Given the description of an element on the screen output the (x, y) to click on. 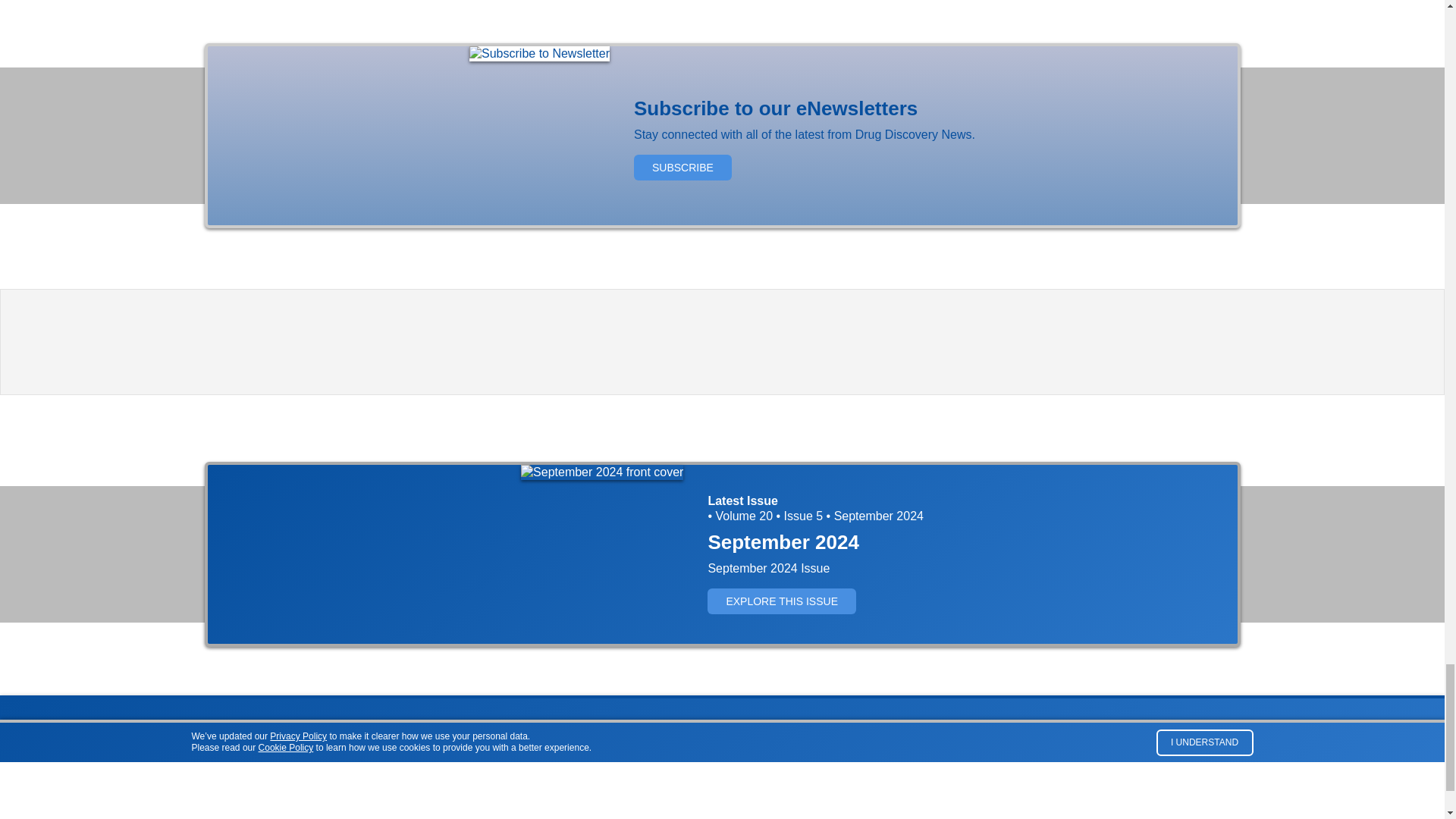
Twitter (1213, 752)
Facebook (1186, 752)
Subscribe to Newsletter (539, 53)
LinkedIn (1240, 752)
